Given the description of an element on the screen output the (x, y) to click on. 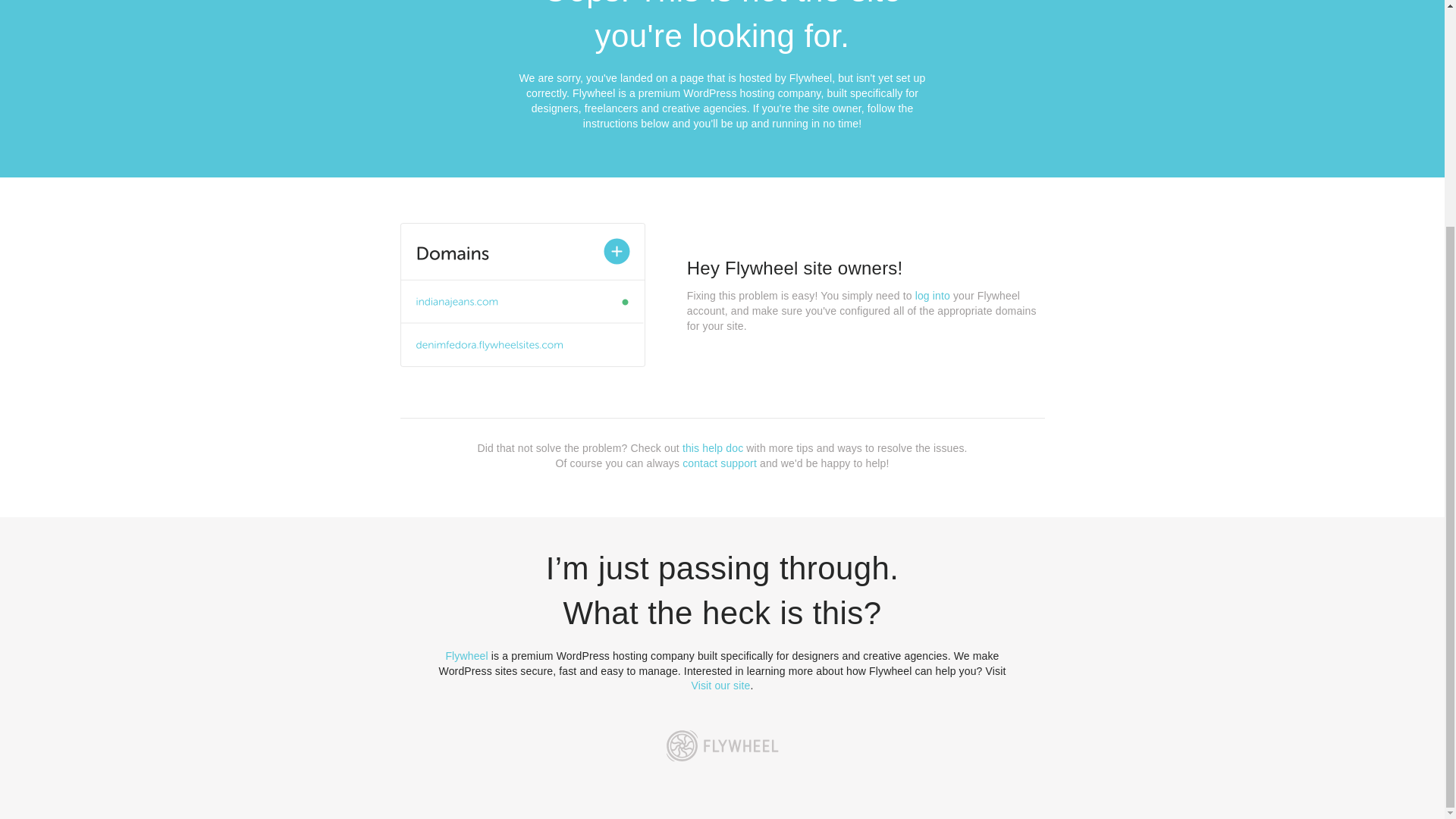
Visit our site (721, 685)
contact support (719, 463)
this help doc (712, 448)
log into (932, 295)
Flywheel (466, 655)
